Given the description of an element on the screen output the (x, y) to click on. 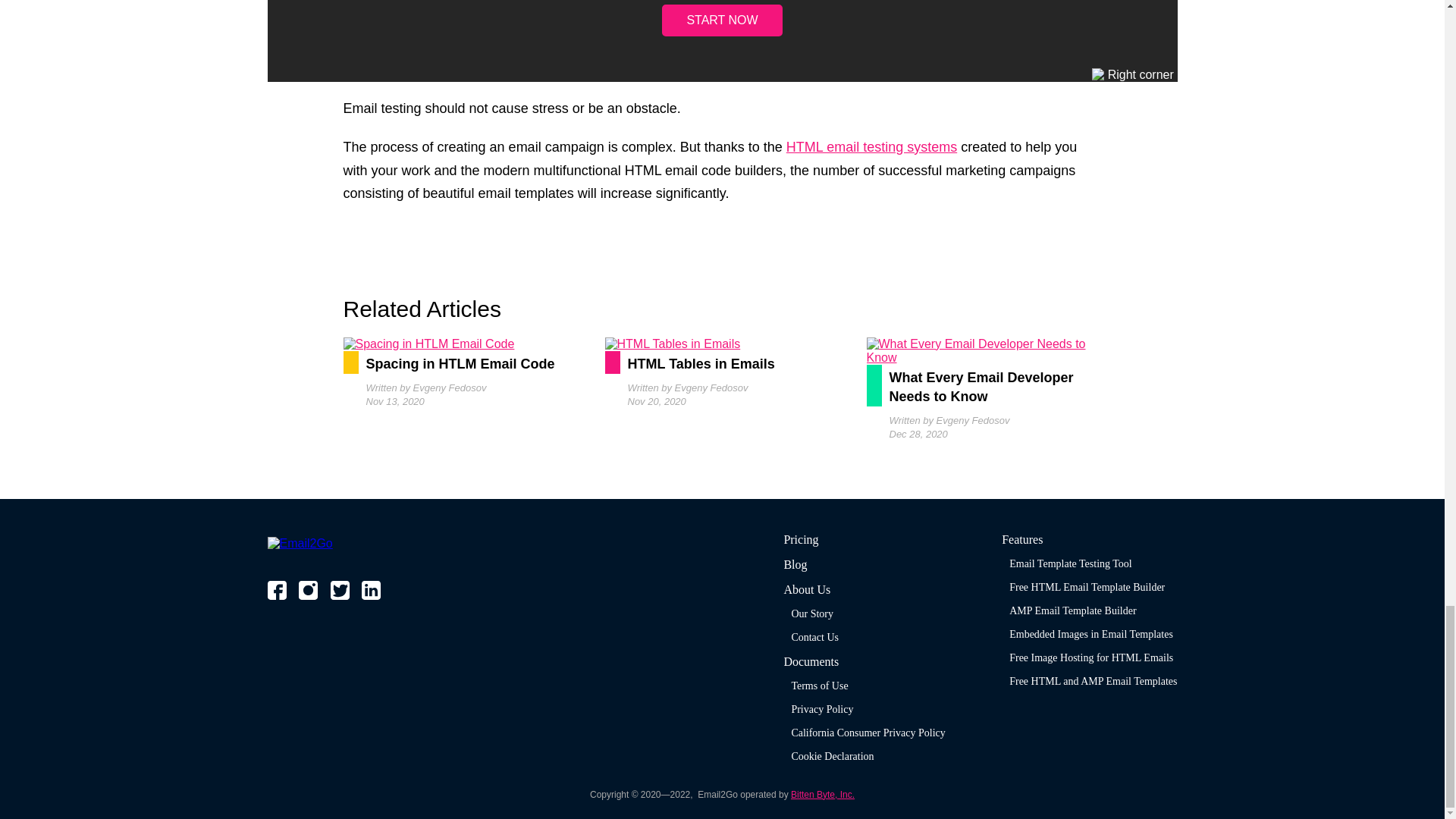
What Every Email Developer Needs to Know (983, 385)
HTML Tables in Emails (722, 362)
Our Story (811, 613)
Pricing (800, 539)
Contact Us (814, 636)
Spacing in HTLM Email Code (460, 362)
Blog (794, 563)
START NOW (721, 20)
HTML email testing systems (871, 146)
